Given the description of an element on the screen output the (x, y) to click on. 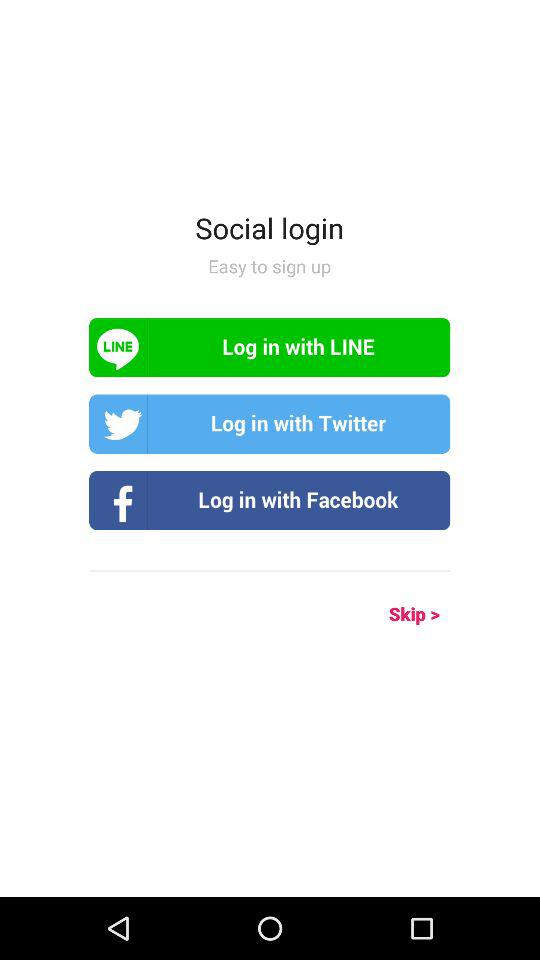
login with facebook (269, 500)
